Given the description of an element on the screen output the (x, y) to click on. 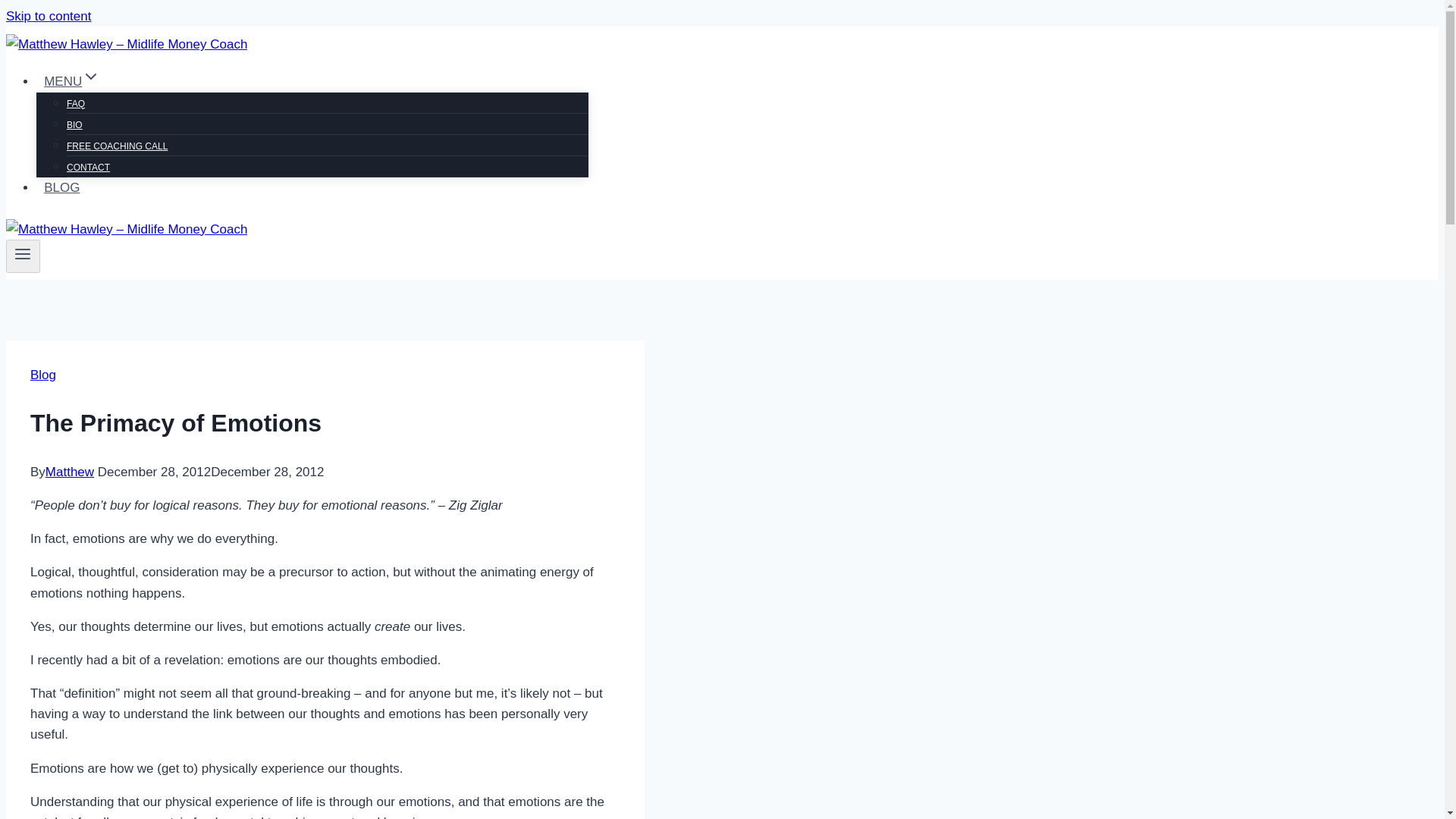
Skip to content (47, 16)
Toggle Menu (22, 253)
Matthew (69, 472)
Expand (90, 76)
FAQ (75, 103)
BLOG (61, 187)
FREE COACHING CALL (116, 145)
Skip to content (47, 16)
Blog (43, 373)
CONTACT (88, 167)
Toggle Menu (22, 255)
MENUExpand (71, 81)
BIO (74, 124)
